Given the description of an element on the screen output the (x, y) to click on. 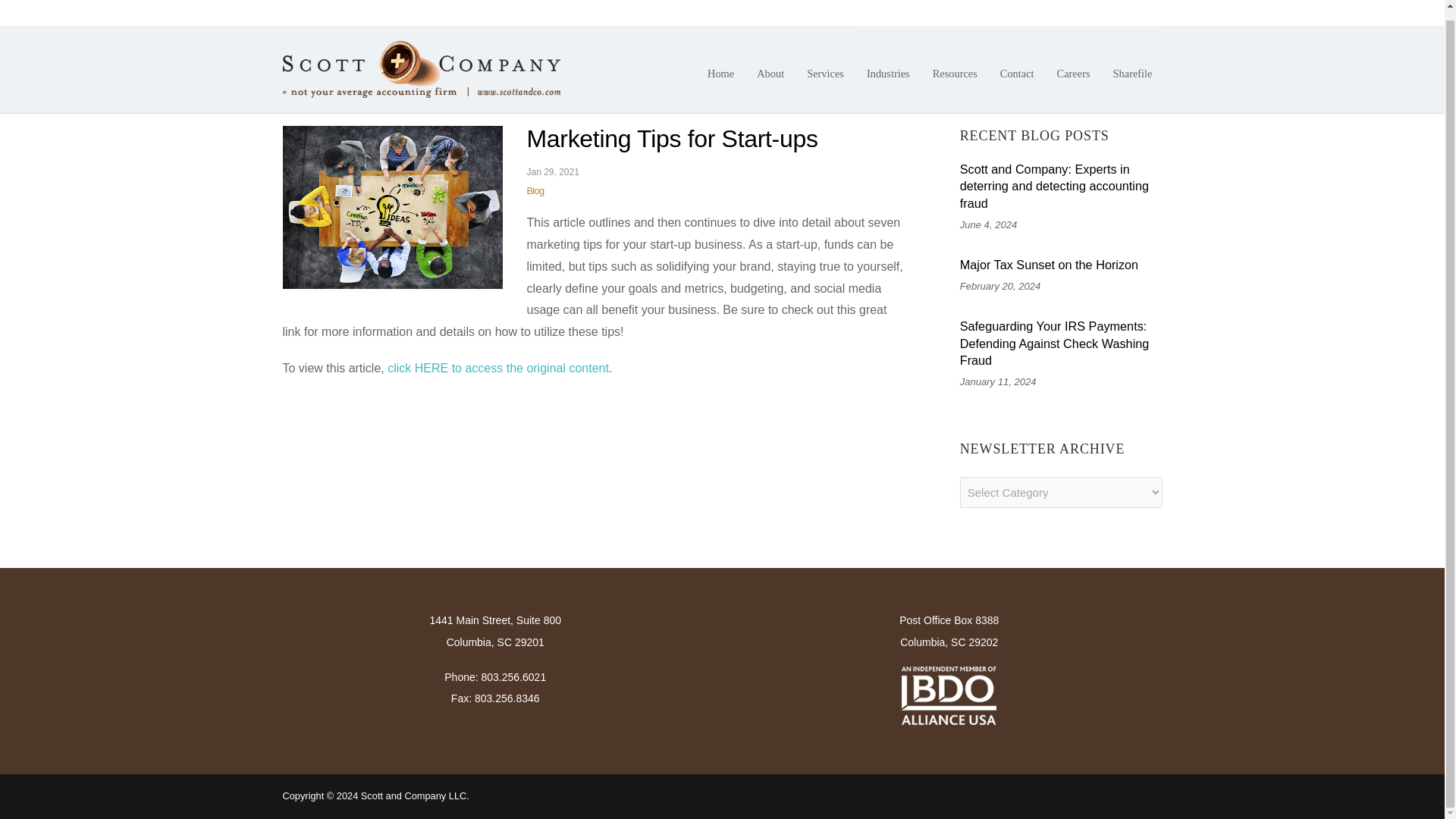
BDO Alliance (948, 695)
Receive our Newsletter (1100, 7)
Pay Online (1017, 7)
